Given the description of an element on the screen output the (x, y) to click on. 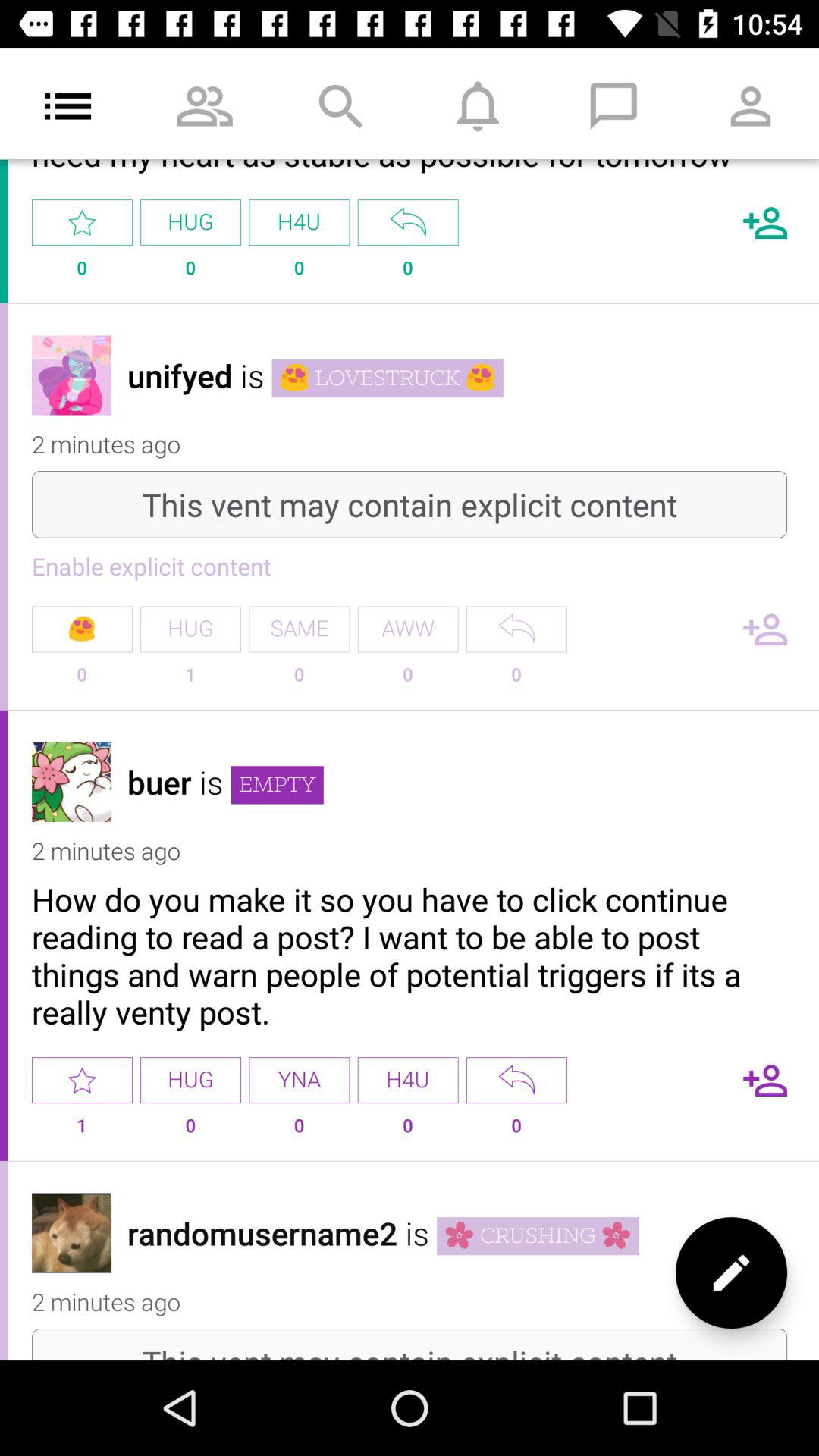
user profile (71, 781)
